Given the description of an element on the screen output the (x, y) to click on. 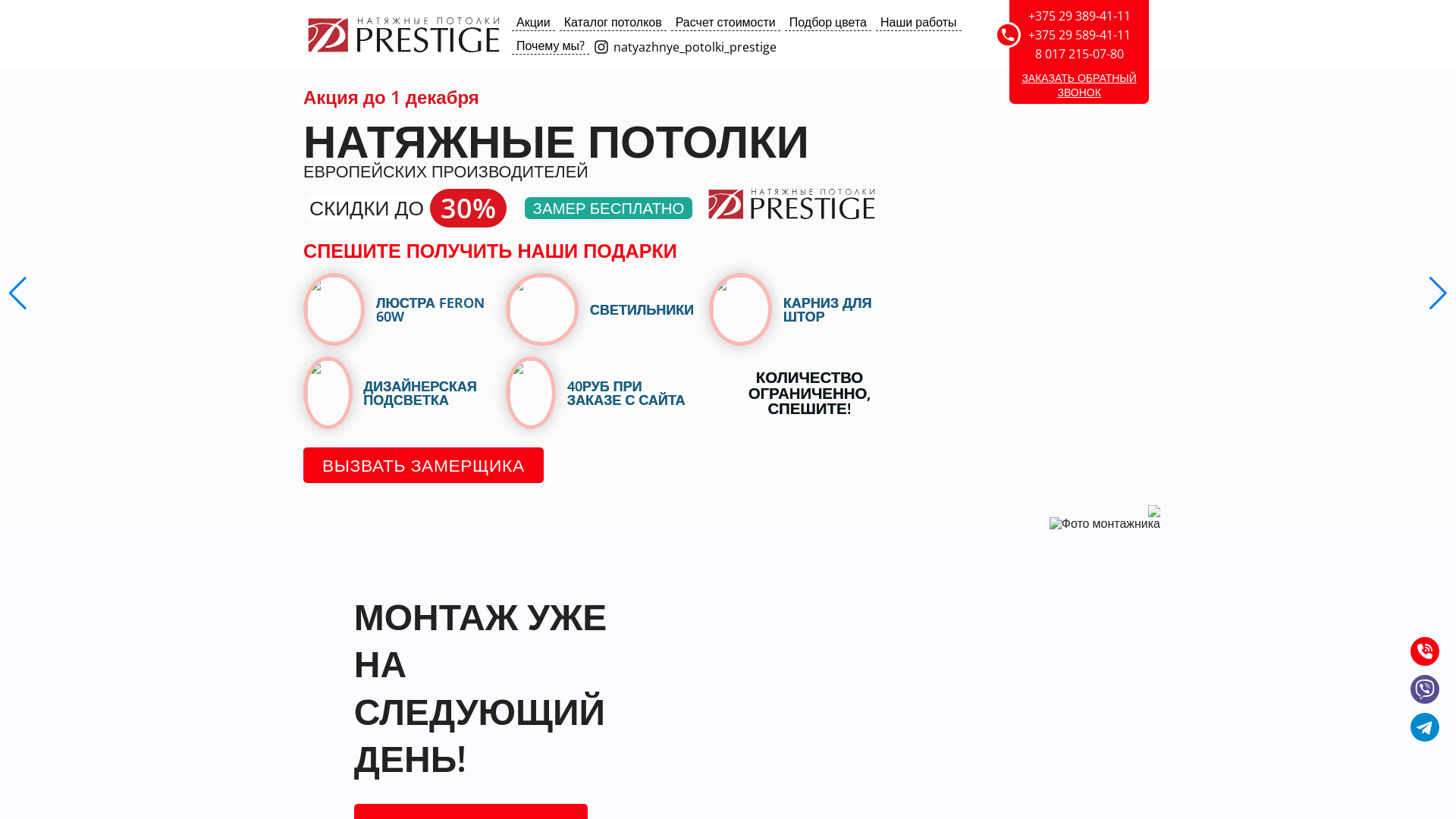
+375 29 589-41-11 Element type: text (1079, 34)
natyazhnye_potolki_prestige Element type: text (687, 45)
+375 29 389-41-11 Element type: text (1079, 15)
8 017 215-07-80 Element type: text (1079, 53)
